Given the description of an element on the screen output the (x, y) to click on. 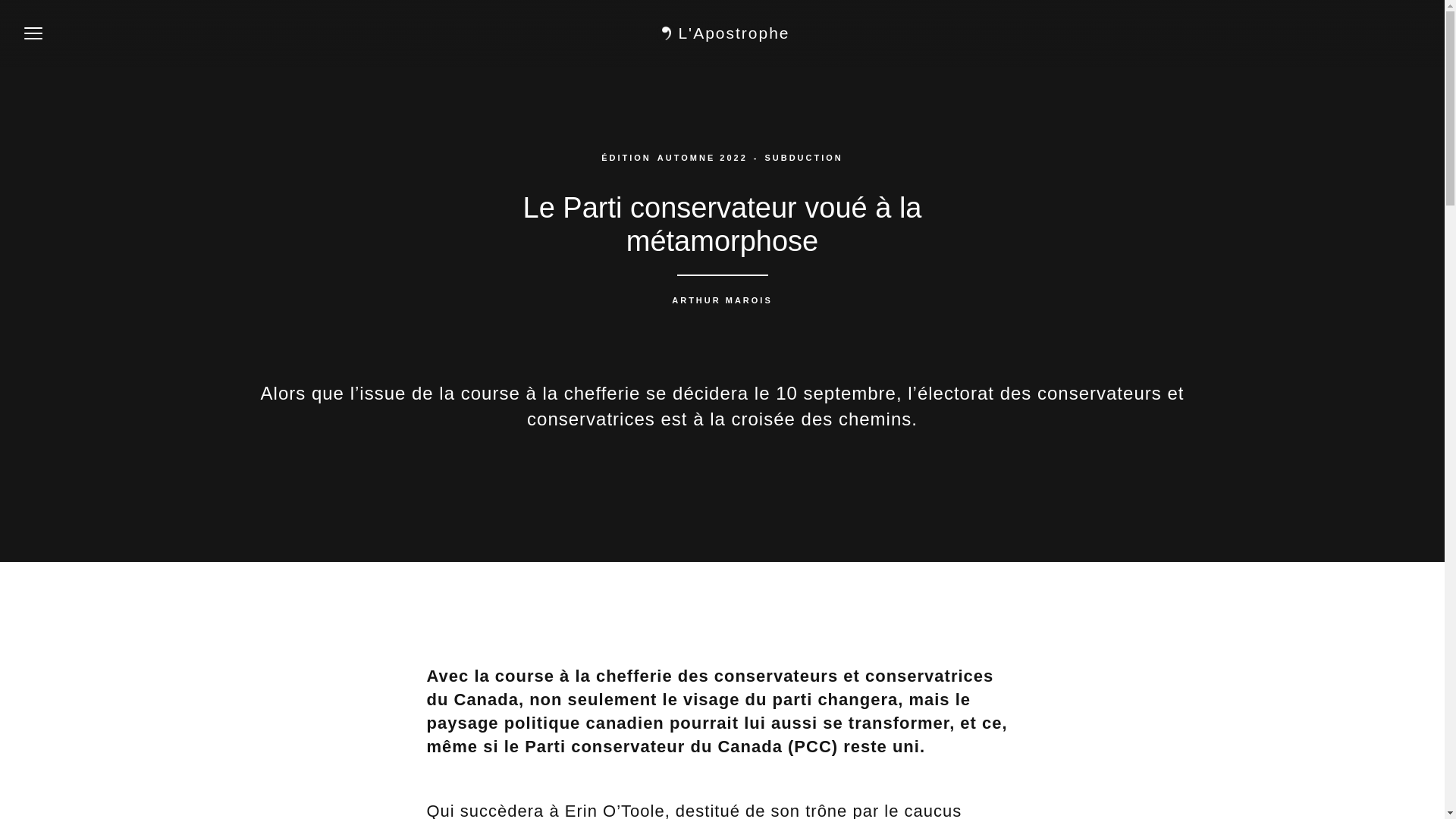
ARTHUR MAROIS Element type: text (721, 299)
L'Apostrophe Element type: text (721, 33)
